Given the description of an element on the screen output the (x, y) to click on. 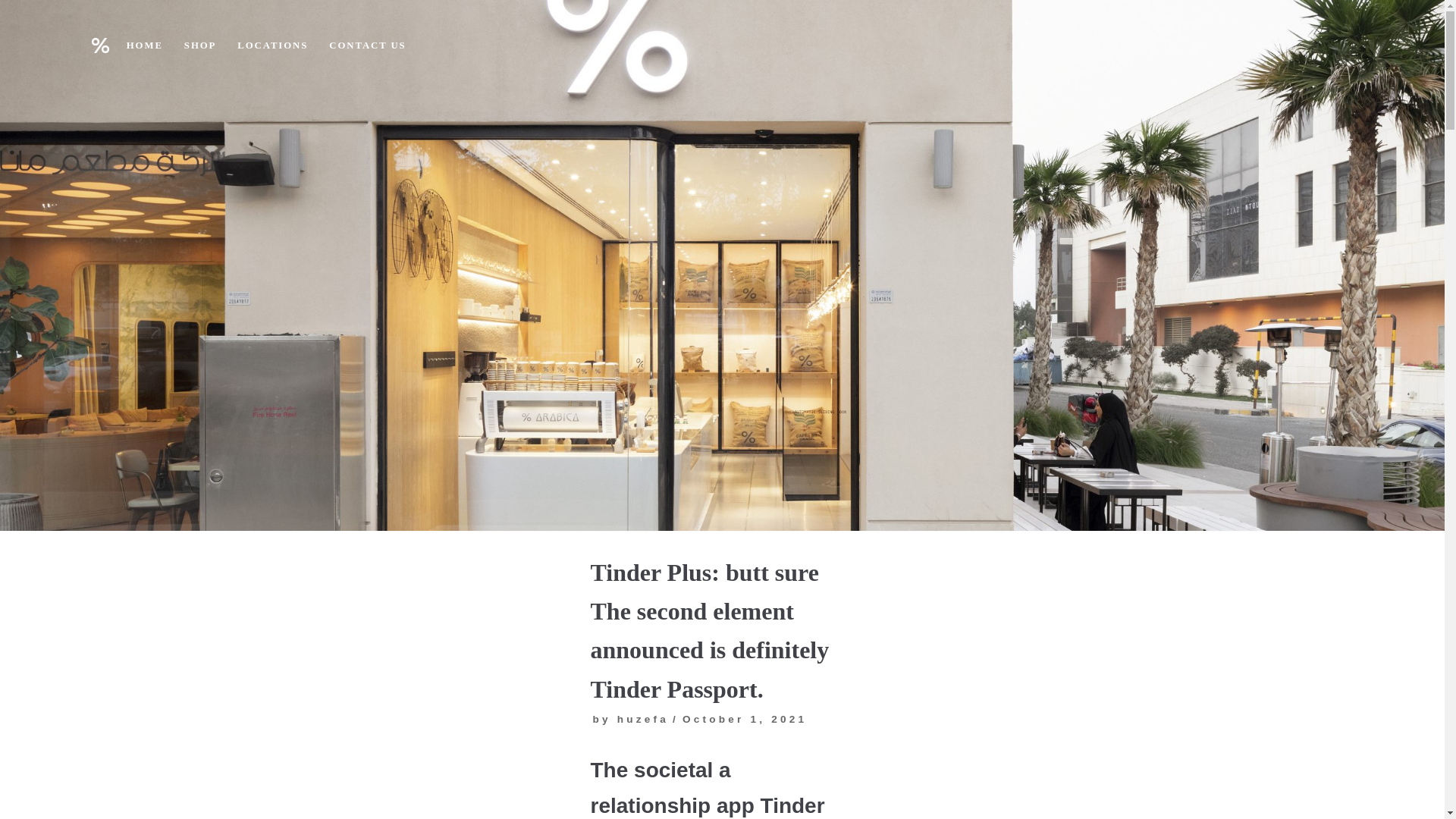
Posts by huzefa (642, 718)
LOCATIONS (272, 44)
huzefa (642, 718)
HOME (144, 44)
Skip to content (15, 31)
CONTACT US (367, 44)
SHOP (199, 44)
